Given the description of an element on the screen output the (x, y) to click on. 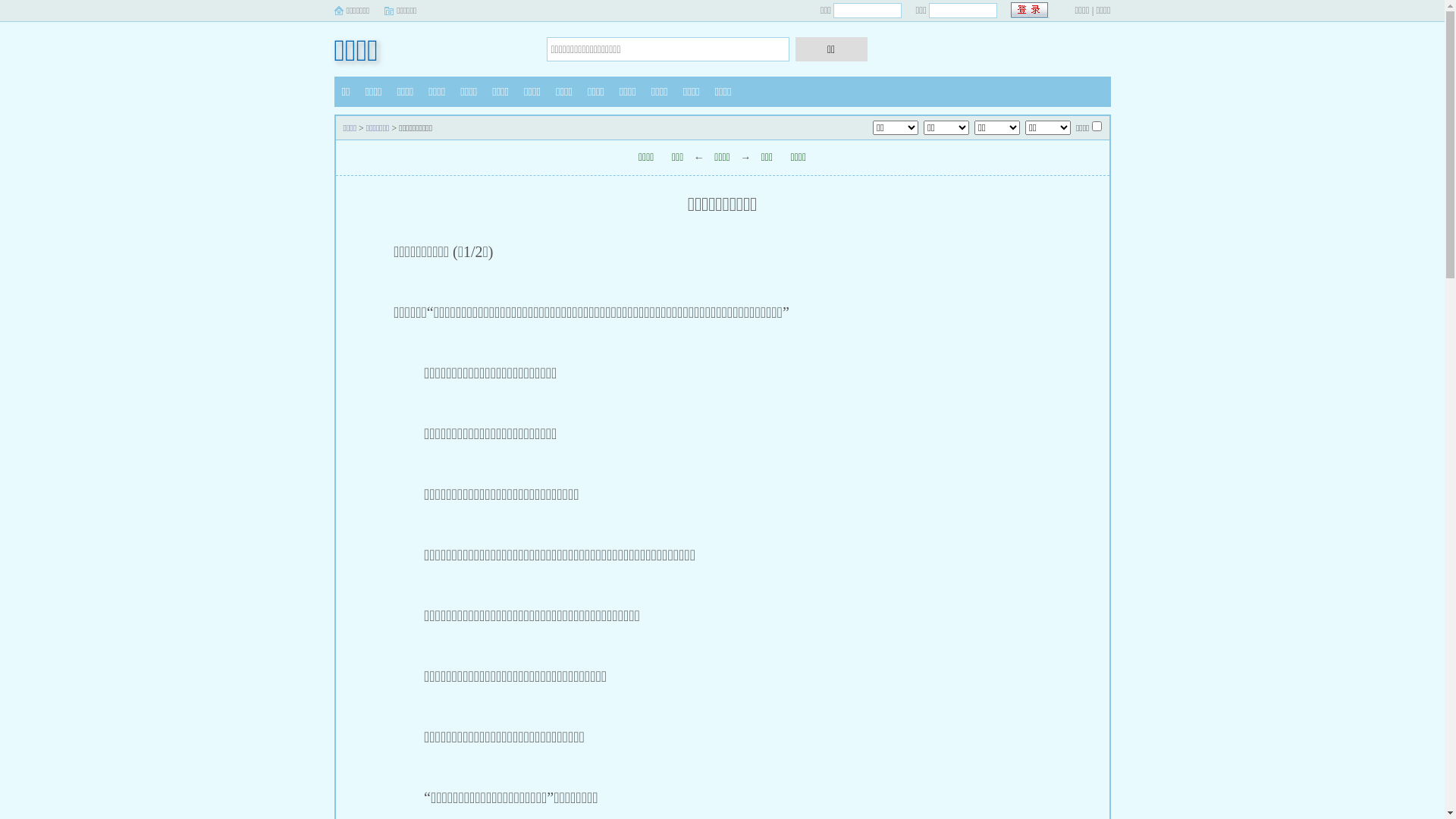
  Element type: text (1029, 10)
